Given the description of an element on the screen output the (x, y) to click on. 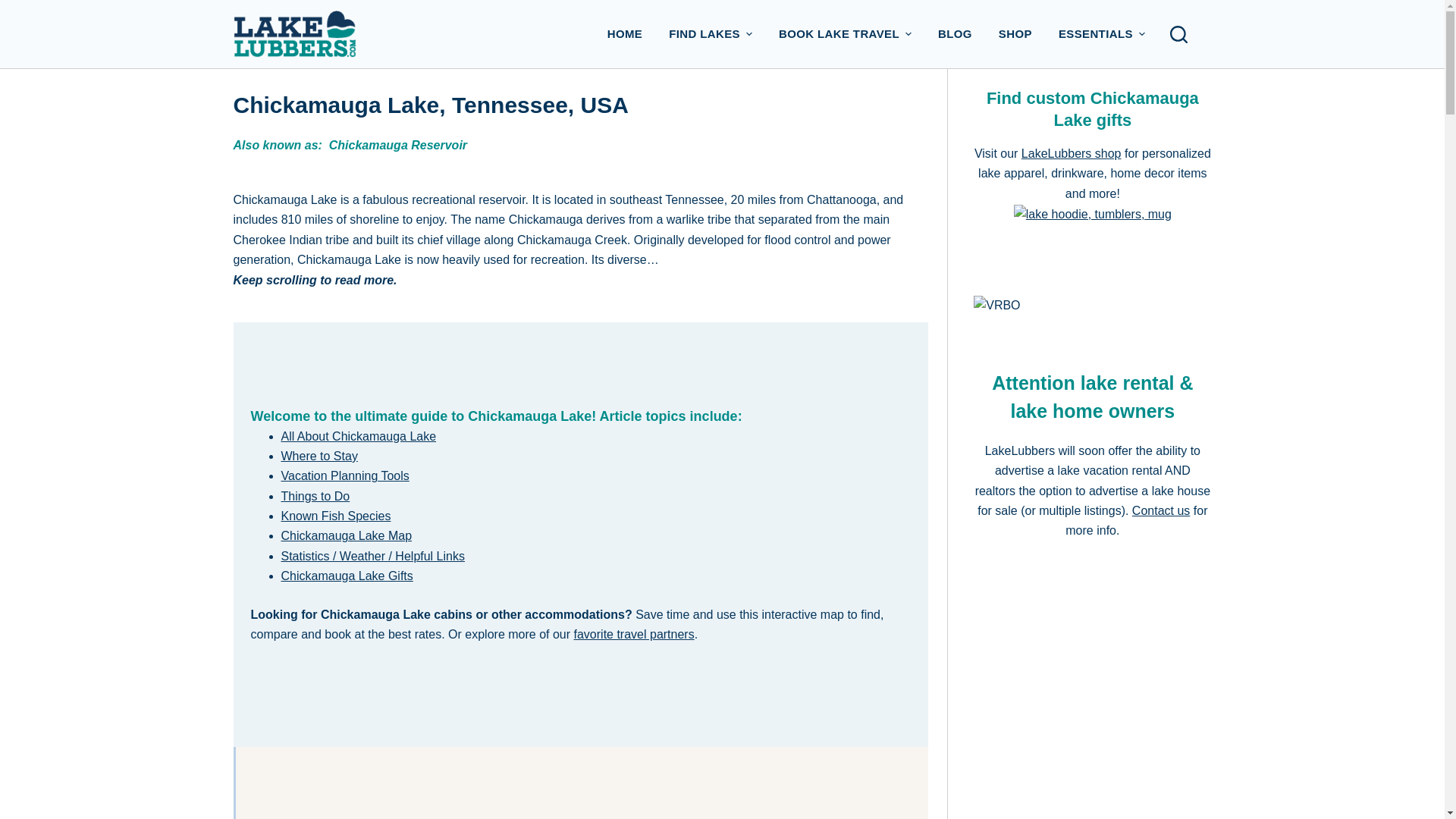
HOME (625, 33)
BOOK LAKE TRAVEL (844, 33)
Skip to content (15, 7)
FIND LAKES (710, 33)
